Given the description of an element on the screen output the (x, y) to click on. 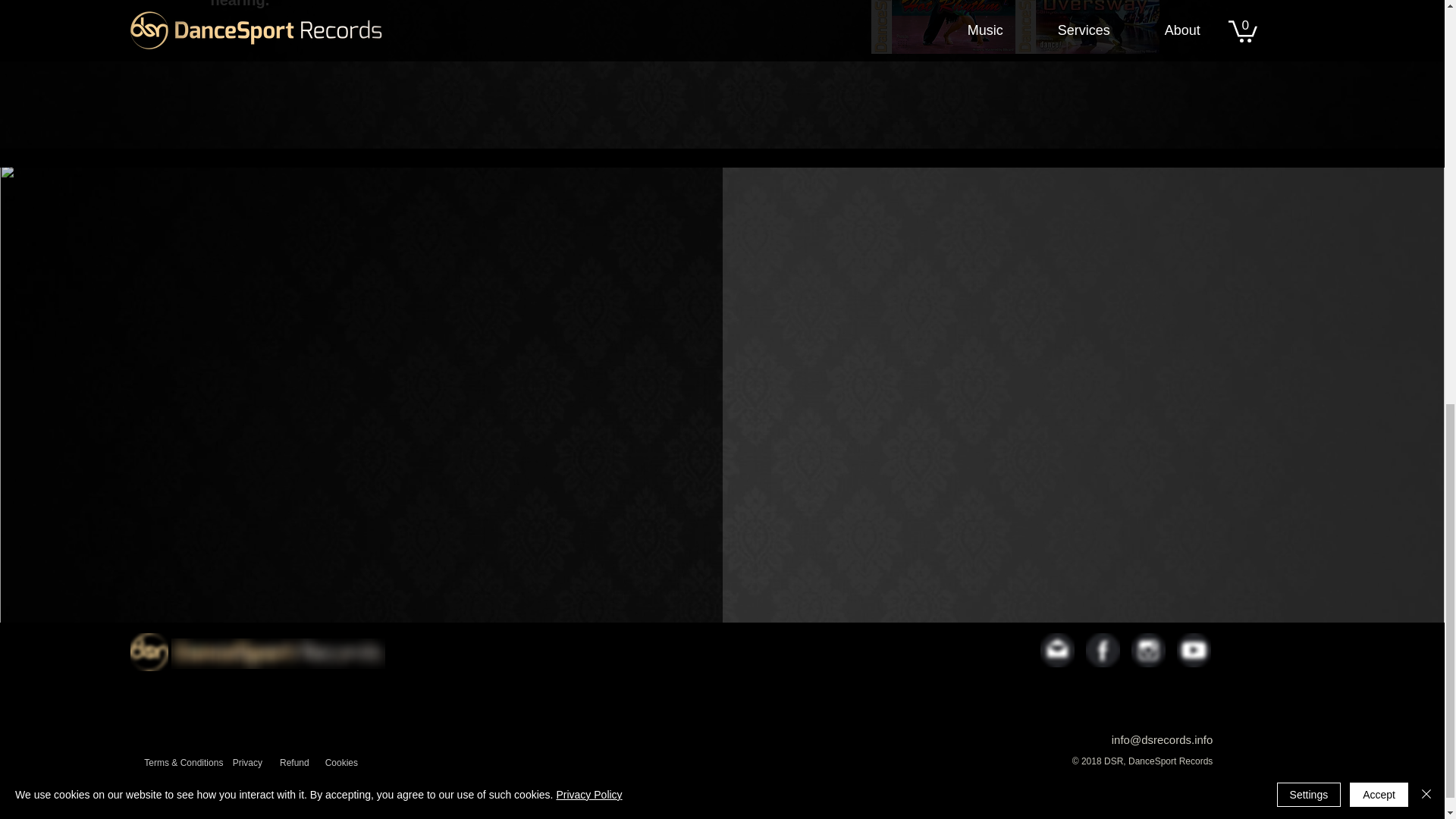
Cookies (341, 763)
Refund (293, 763)
Privacy (247, 763)
